Given the description of an element on the screen output the (x, y) to click on. 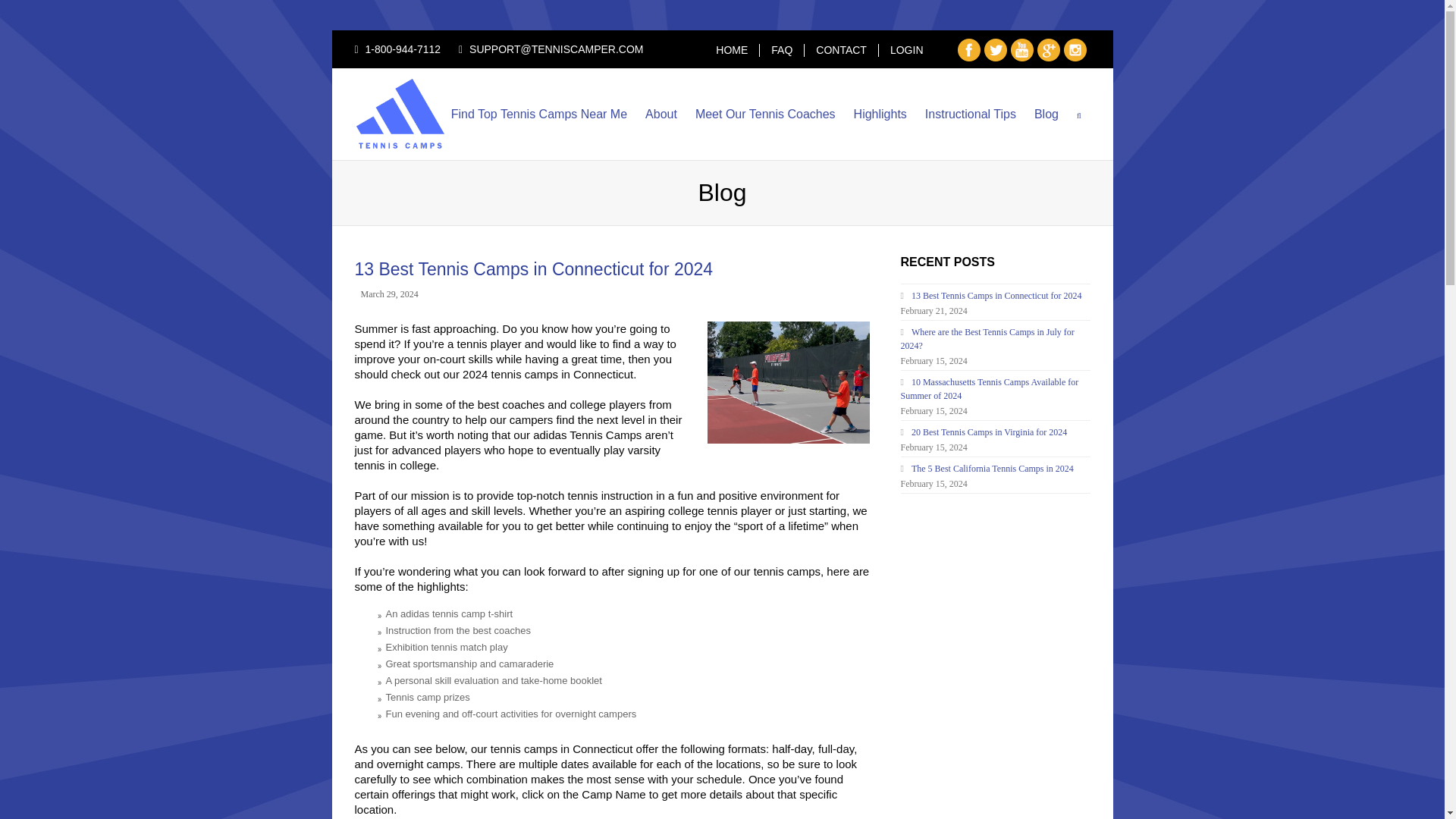
CONTACT (840, 50)
Meet Our Tennis Coaches (764, 114)
HOME (732, 50)
Highlights (879, 114)
1-800-944-7112 (403, 49)
Tennis Camps (430, 113)
FAQ (781, 50)
About (660, 114)
Instructional Tips (970, 114)
Blog (1046, 114)
Find Top Tennis Camps Near Me (539, 114)
LOGIN (906, 50)
